Given the description of an element on the screen output the (x, y) to click on. 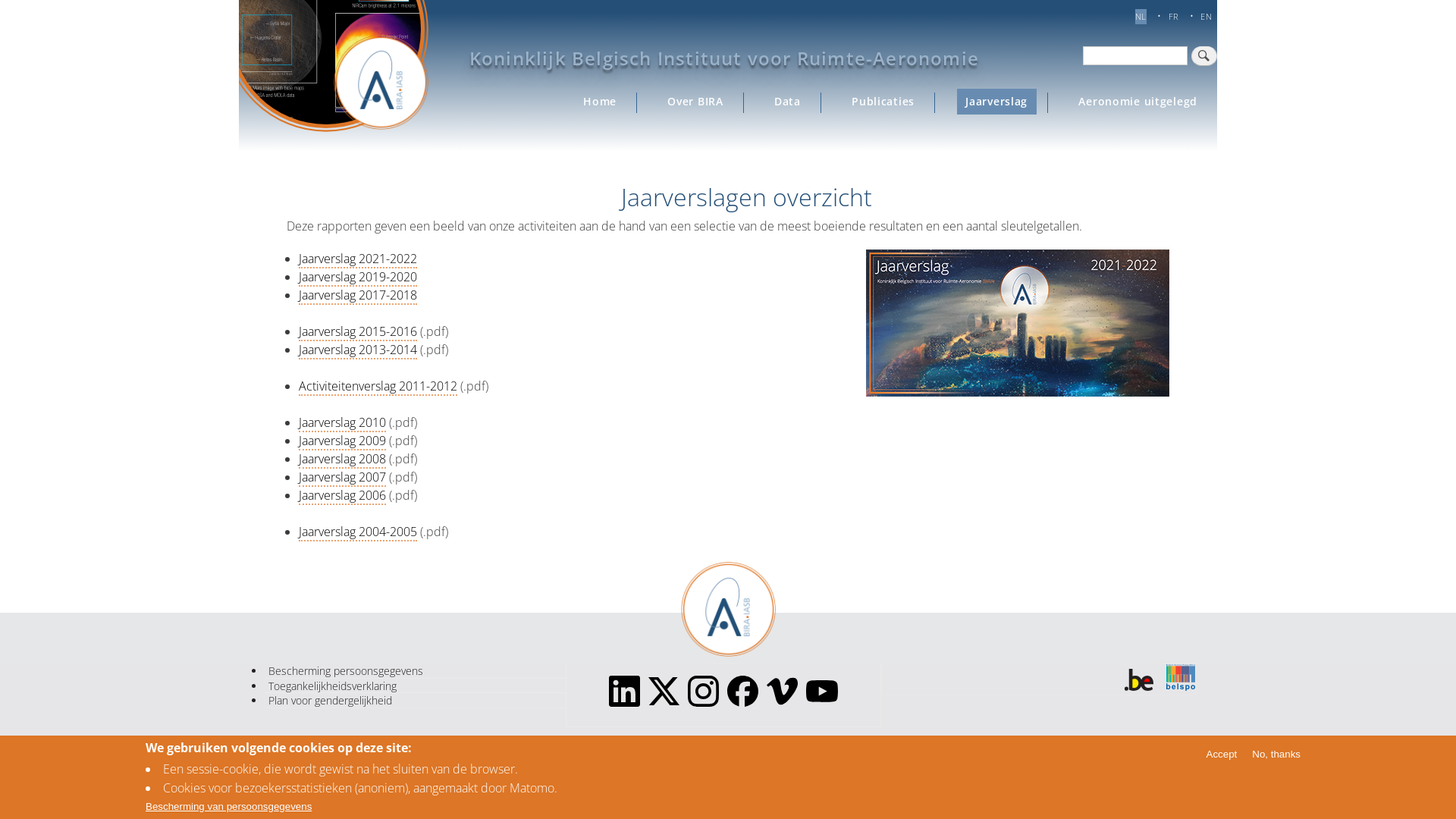
EN Element type: text (1205, 15)
Skip to main content Element type: text (0, 1)
Jaarverslag 2013-2014 Element type: text (357, 350)
Jaarverslag 2021-2022 Element type: text (357, 259)
Enter the terms you wish to search for. Element type: hover (1134, 55)
Activiteitenverslag 2011-2012 Element type: text (377, 386)
Jaarverslag 2009 Element type: text (341, 441)
Jaarverslag 2004-2005 Element type: text (357, 532)
Jaarverslag 2015-2016 Element type: text (357, 332)
Data Element type: text (787, 100)
Aeronomie uitgelegd Element type: text (1138, 100)
Jaarverslag 2007 Element type: text (341, 477)
Bescherming persoonsgegevens Element type: text (414, 671)
No, thanks Element type: text (1275, 753)
Publicaties Element type: text (883, 100)
Plan voor gendergelijkheid Element type: text (414, 700)
Search Element type: text (1204, 55)
Jaarverslag 2008 Element type: text (341, 459)
Over BIRA Element type: text (695, 100)
Jaarverslag 2019-2020 Element type: text (357, 277)
Jaarverslag 2010 Element type: text (341, 423)
Bescherming van persoonsgegevens Element type: text (228, 806)
NL Element type: text (1140, 15)
Jaarverslag 2017-2018 Element type: text (357, 295)
Toegankelijkheidsverklaring Element type: text (414, 686)
Jaarverslag Element type: text (996, 100)
Accept Element type: text (1221, 753)
Home Element type: text (599, 100)
FR Element type: text (1173, 15)
Jaarverslag 2006 Element type: text (341, 495)
